Given the description of an element on the screen output the (x, y) to click on. 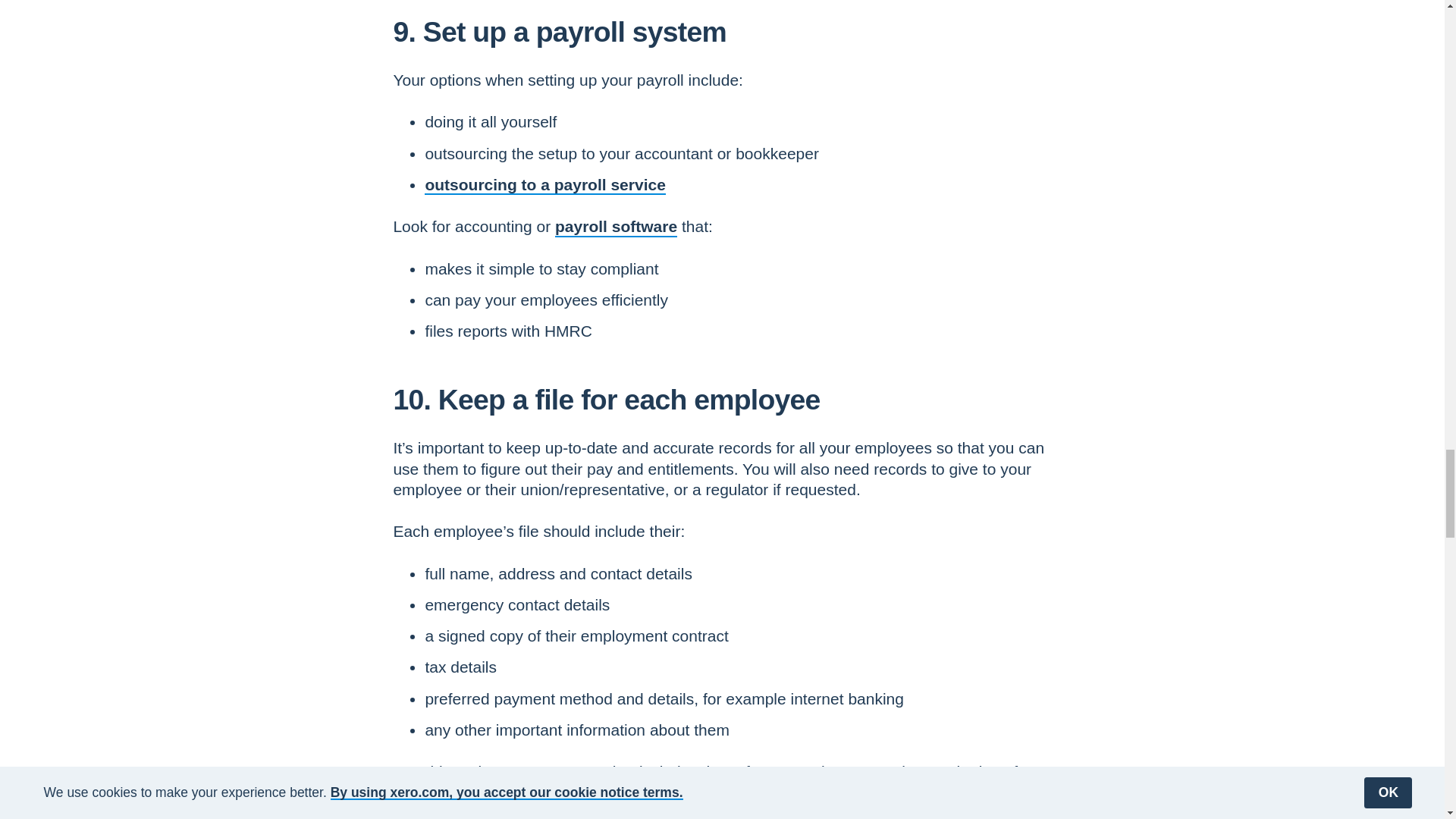
payroll software (615, 226)
outsourcing to a payroll service (545, 184)
